Given the description of an element on the screen output the (x, y) to click on. 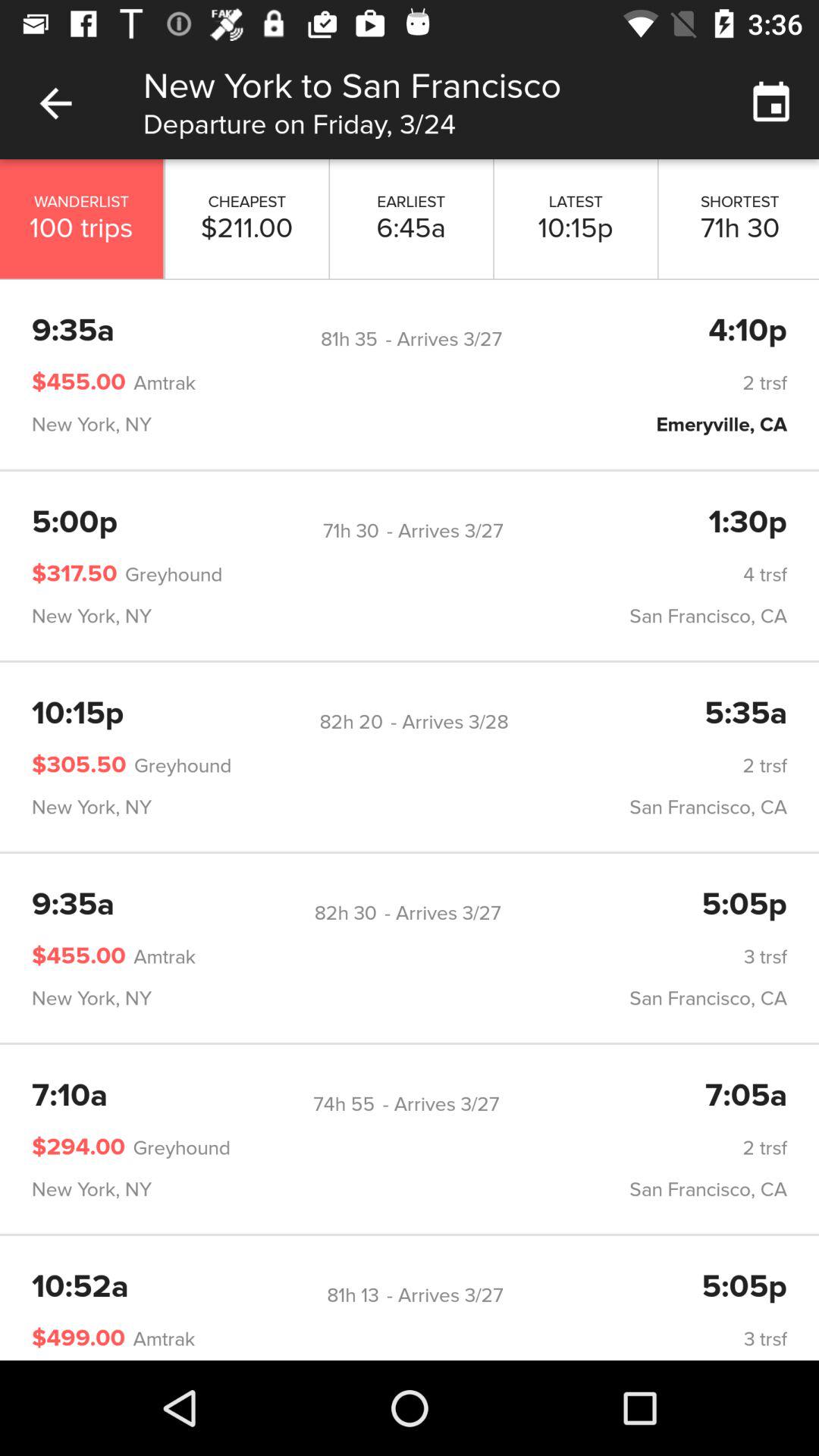
open icon next to - arrives 3/27 icon (345, 913)
